Given the description of an element on the screen output the (x, y) to click on. 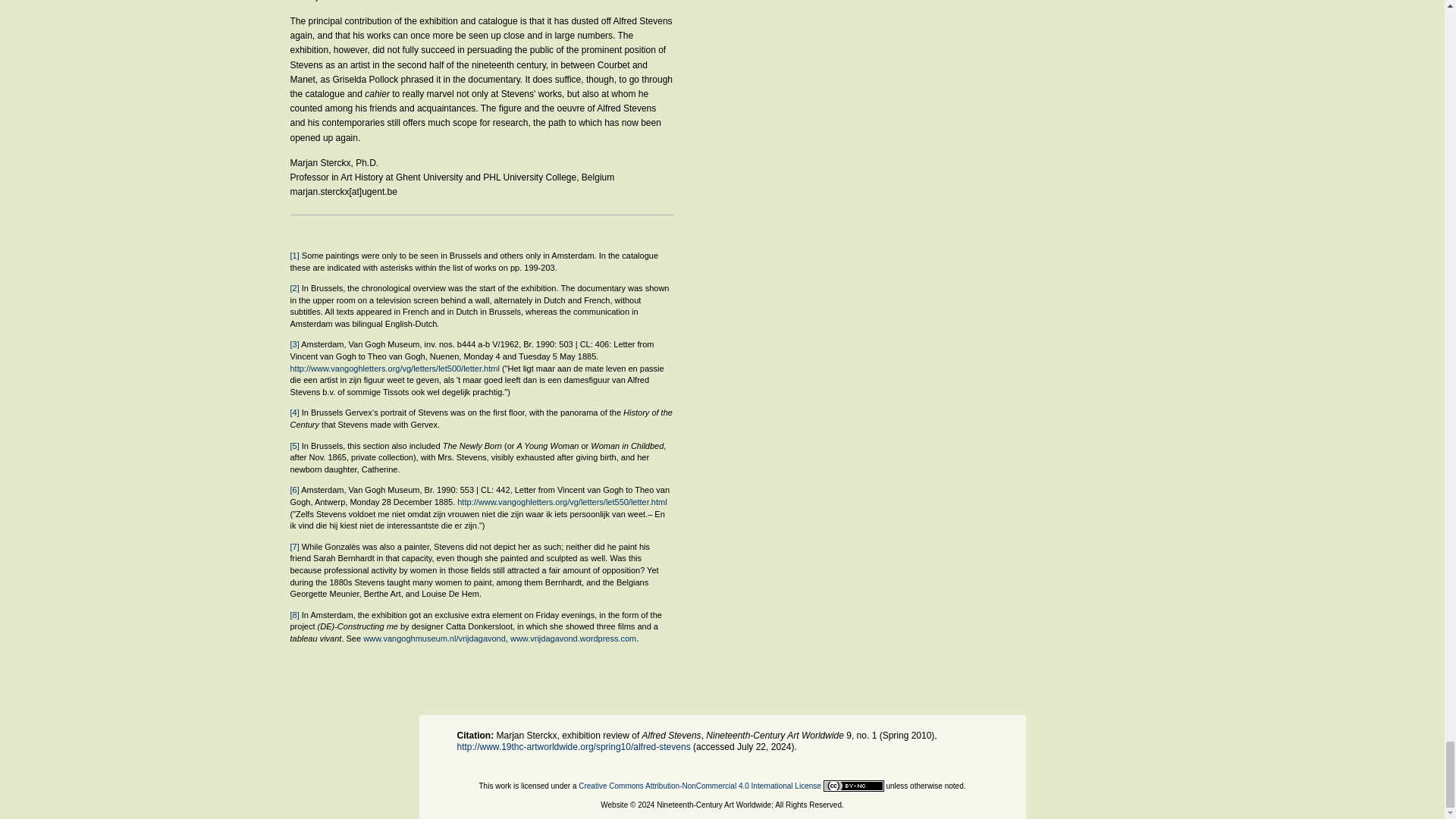
www.vrijdagavond.wordpress.com (573, 637)
